Given the description of an element on the screen output the (x, y) to click on. 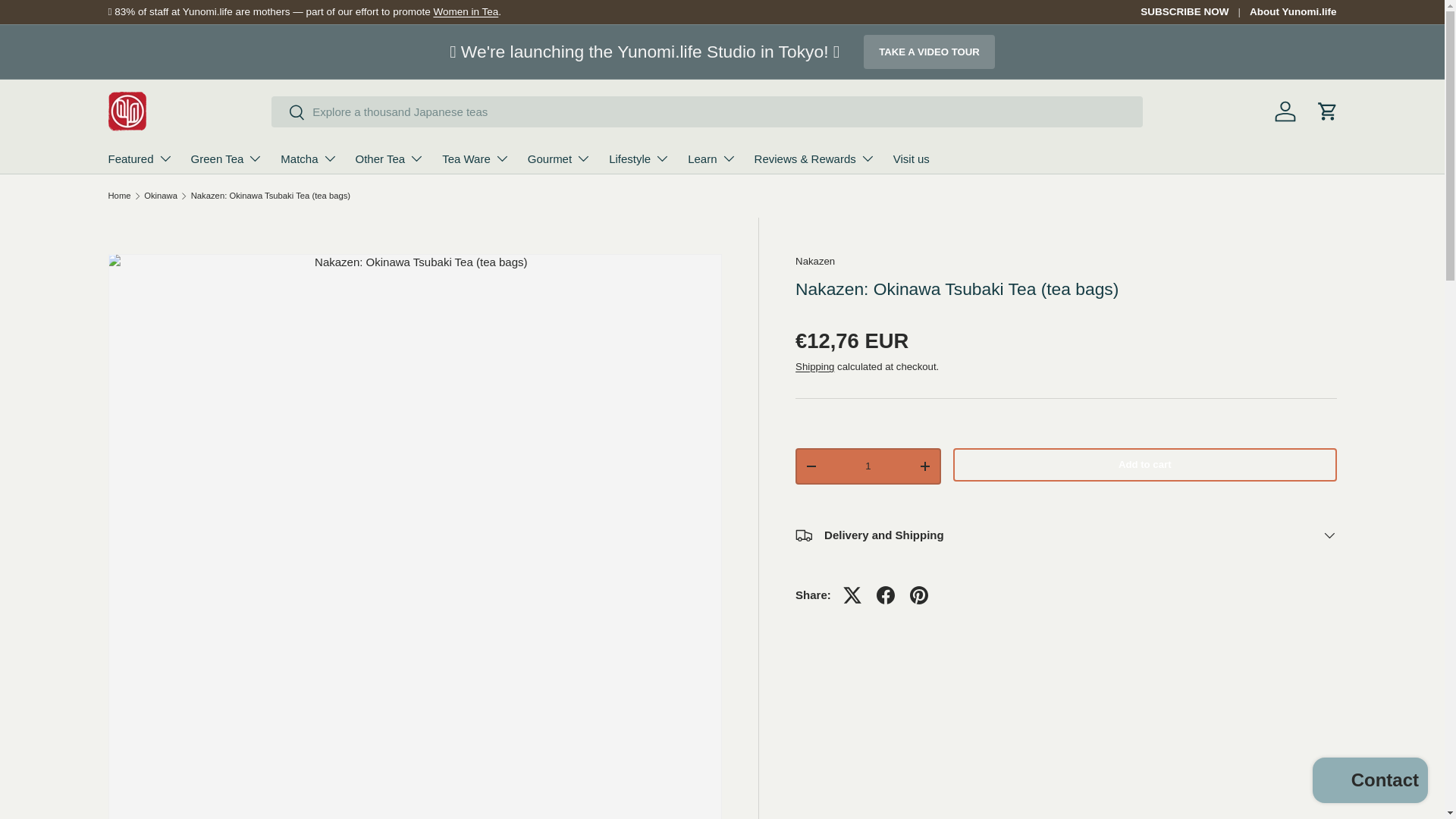
Tweet on X (852, 594)
Share on Facebook (885, 594)
About Yunomi.life (1292, 11)
Pin on Pinterest (919, 594)
Featured (139, 158)
SKIP TO CONTENT (63, 23)
SUBSCRIBE NOW (1194, 11)
1 (868, 466)
Log in (1284, 111)
Green Tea (226, 158)
Cart (1326, 111)
Shopify online store chat (1369, 781)
Search (287, 113)
TAKE A VIDEO TOUR (928, 51)
Women in Tea (464, 11)
